Given the description of an element on the screen output the (x, y) to click on. 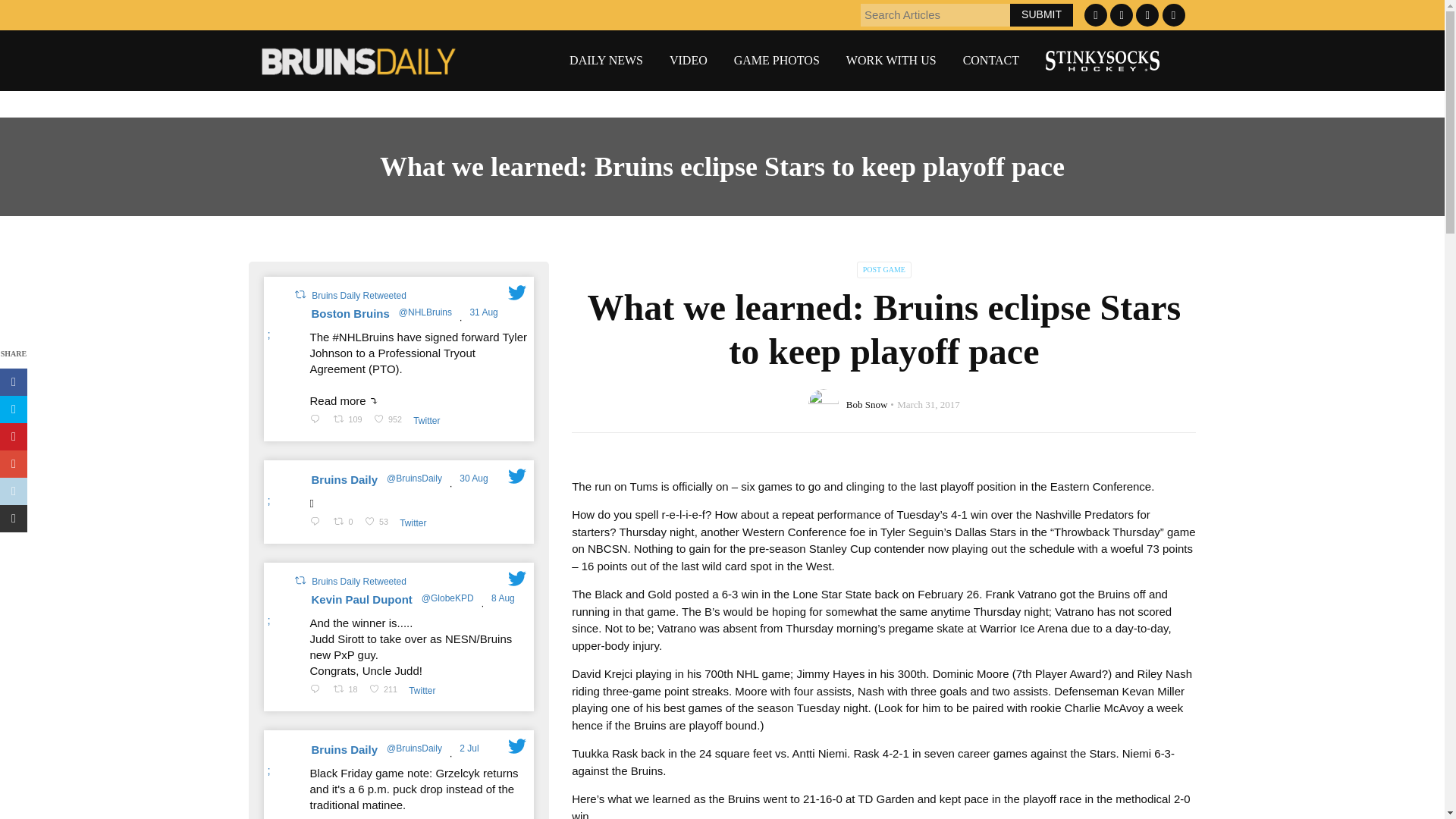
Bruins Daily Retweeted (358, 295)
Reply on Twitter 1829972807477871009 (317, 420)
31 Aug 1829972807477871009 (484, 312)
BruinsDaily.com Daily News (606, 60)
CONTACT (990, 60)
Retweet on Twitter (299, 294)
WORK WITH US (890, 60)
Submit (1041, 14)
Boston Bruins (349, 313)
VIDEO (688, 60)
